Given the description of an element on the screen output the (x, y) to click on. 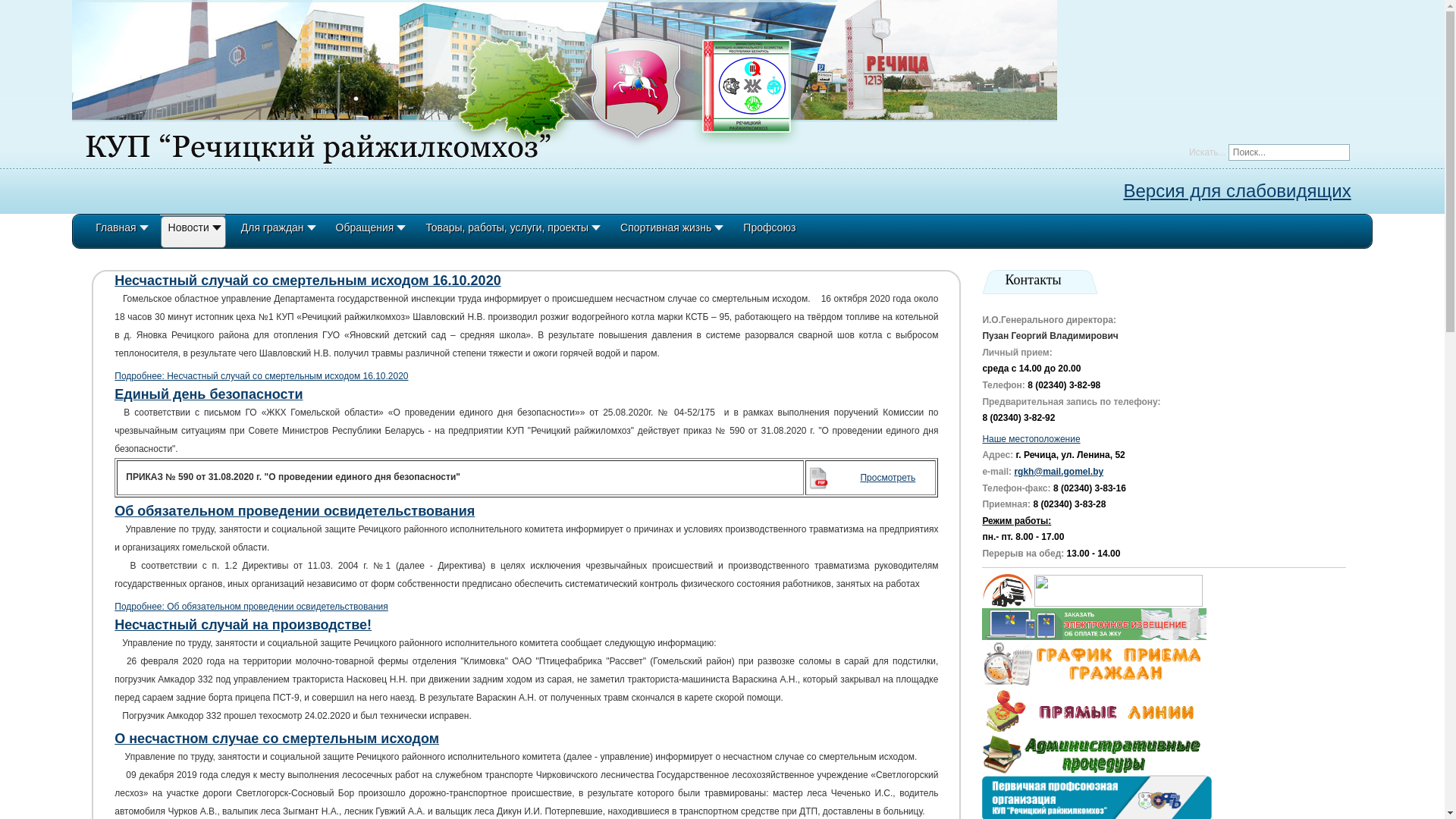
rgkh@mail.gomel.by Element type: text (1058, 471)
